Given the description of an element on the screen output the (x, y) to click on. 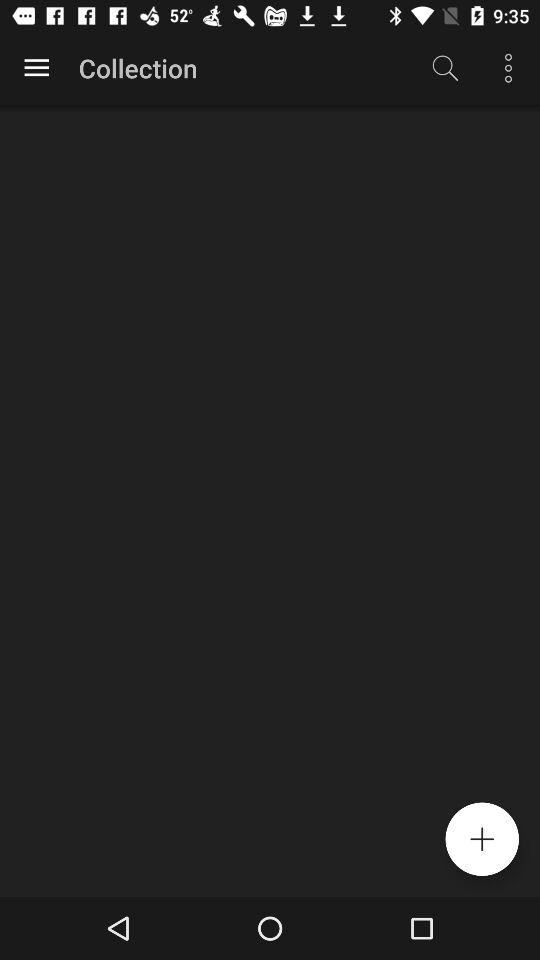
click to add (482, 839)
